Given the description of an element on the screen output the (x, y) to click on. 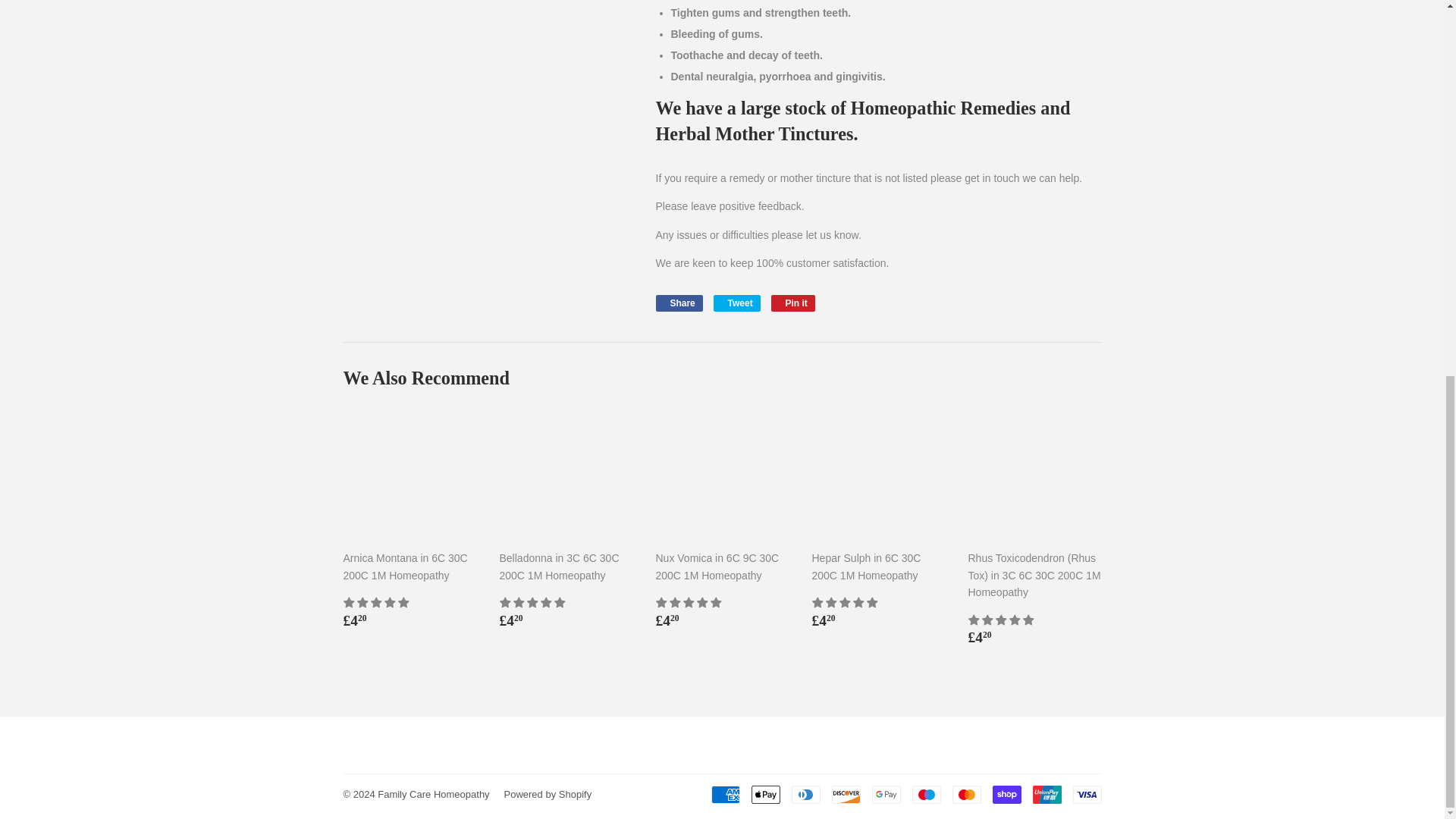
Share on Facebook (678, 303)
Shop Pay (678, 303)
Maestro (1005, 794)
American Express (793, 303)
Mastercard (925, 794)
Tweet on Twitter (725, 794)
Pin on Pinterest (736, 303)
